Given the description of an element on the screen output the (x, y) to click on. 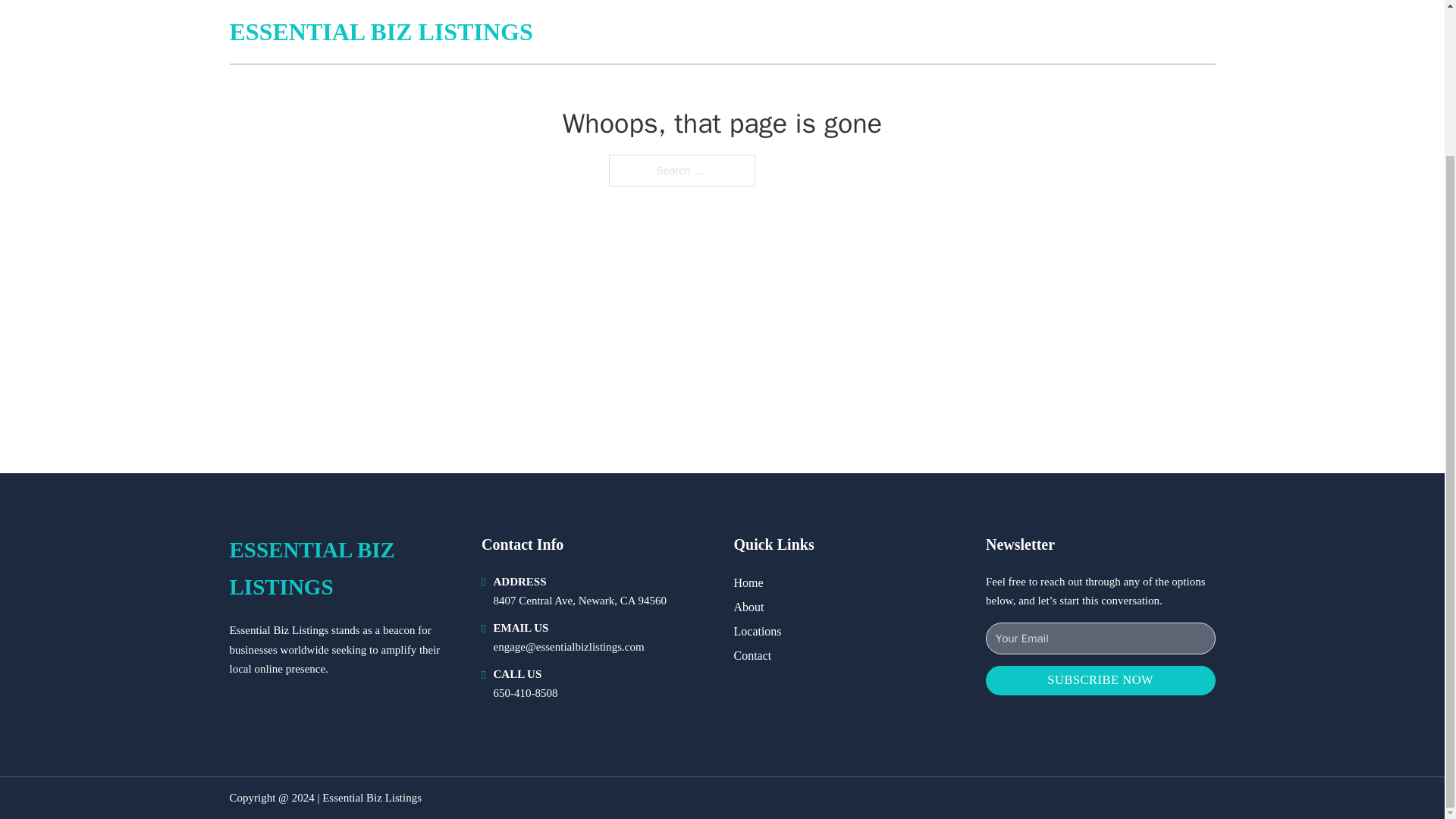
ESSENTIAL BIZ LISTINGS (343, 568)
650-410-8508 (525, 693)
About (748, 607)
Contact (752, 655)
Locations (757, 630)
SUBSCRIBE NOW (1100, 680)
Home (747, 582)
